Given the description of an element on the screen output the (x, y) to click on. 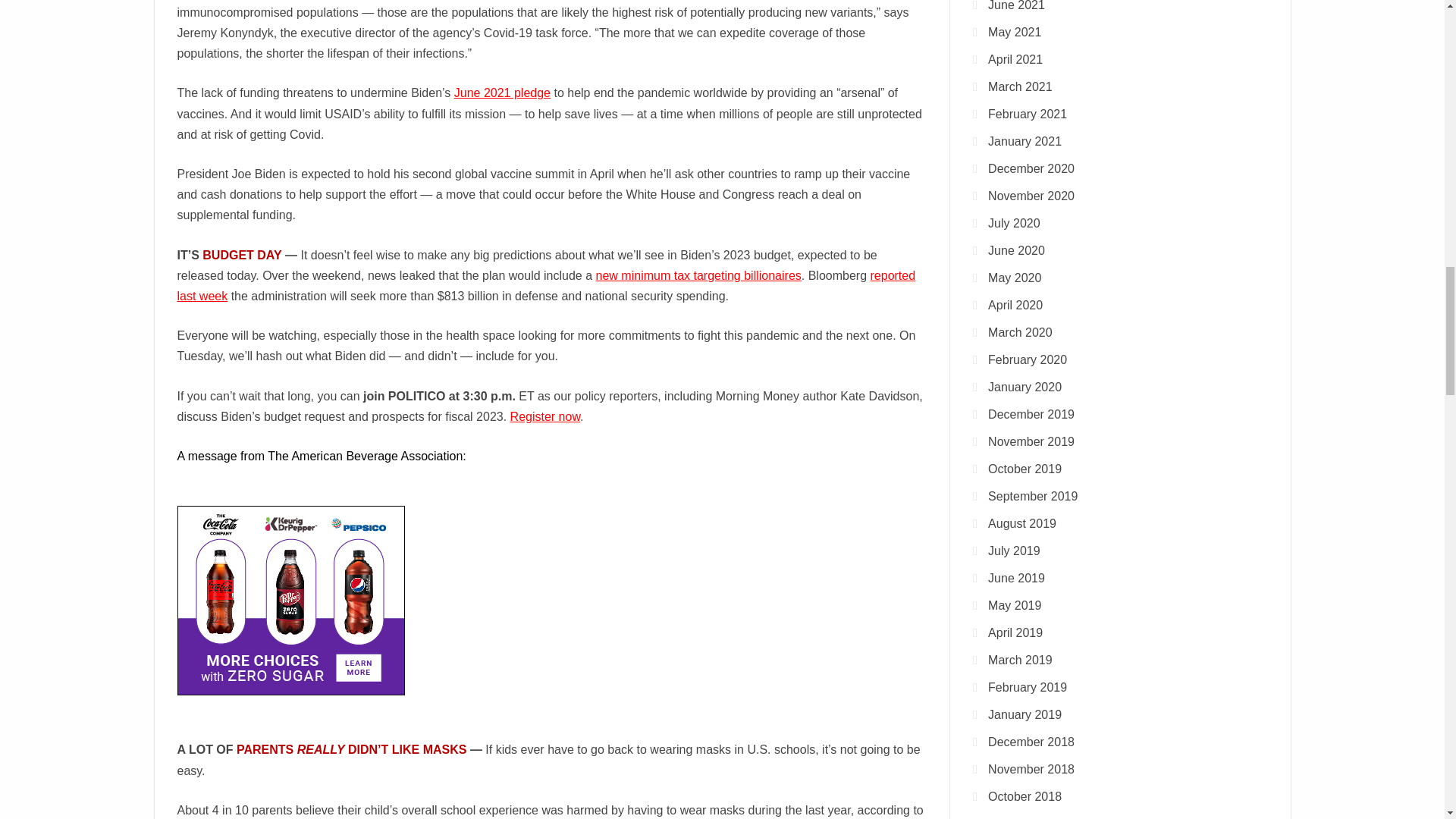
new minimum tax targeting billionaires (698, 275)
Advertisement Image (290, 600)
Register now (545, 416)
June 2021 pledge (502, 92)
reported last week (546, 285)
